Given the description of an element on the screen output the (x, y) to click on. 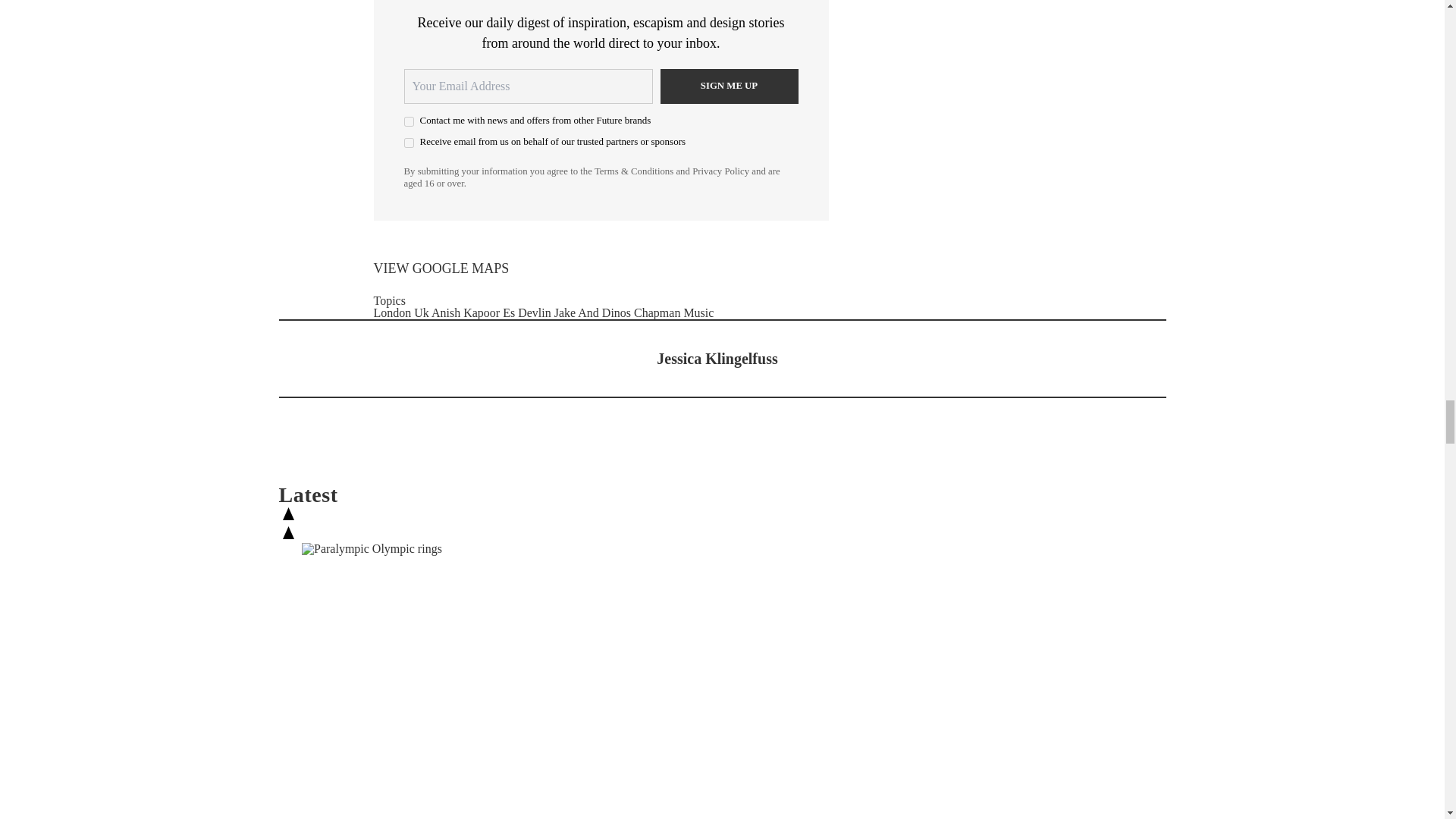
Privacy Policy (721, 171)
Sign me up (728, 86)
on (408, 143)
on (408, 121)
Sign me up (728, 86)
VIEW GOOGLE MAPS (440, 268)
